Given the description of an element on the screen output the (x, y) to click on. 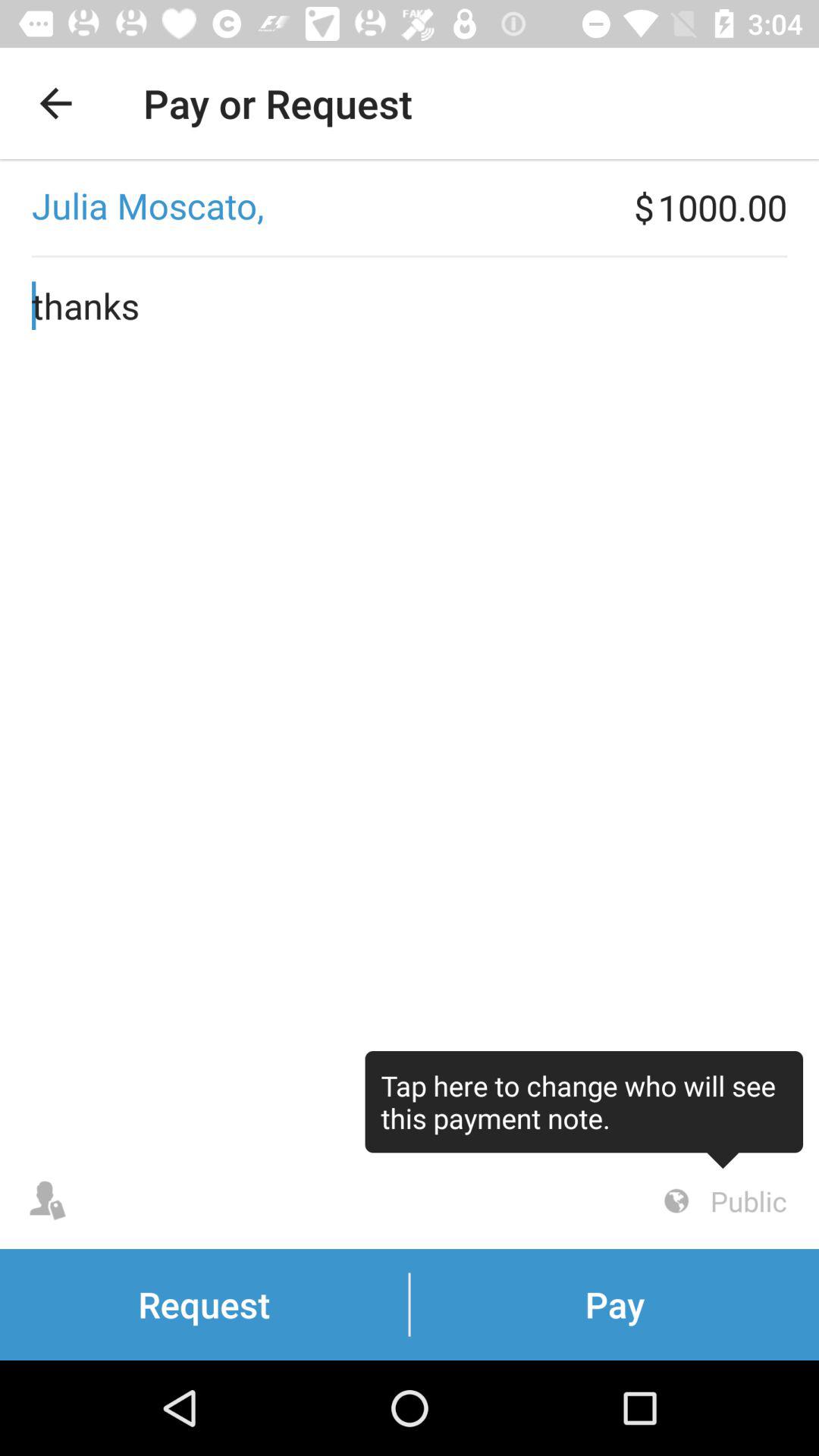
swipe until the ,  icon (317, 207)
